Given the description of an element on the screen output the (x, y) to click on. 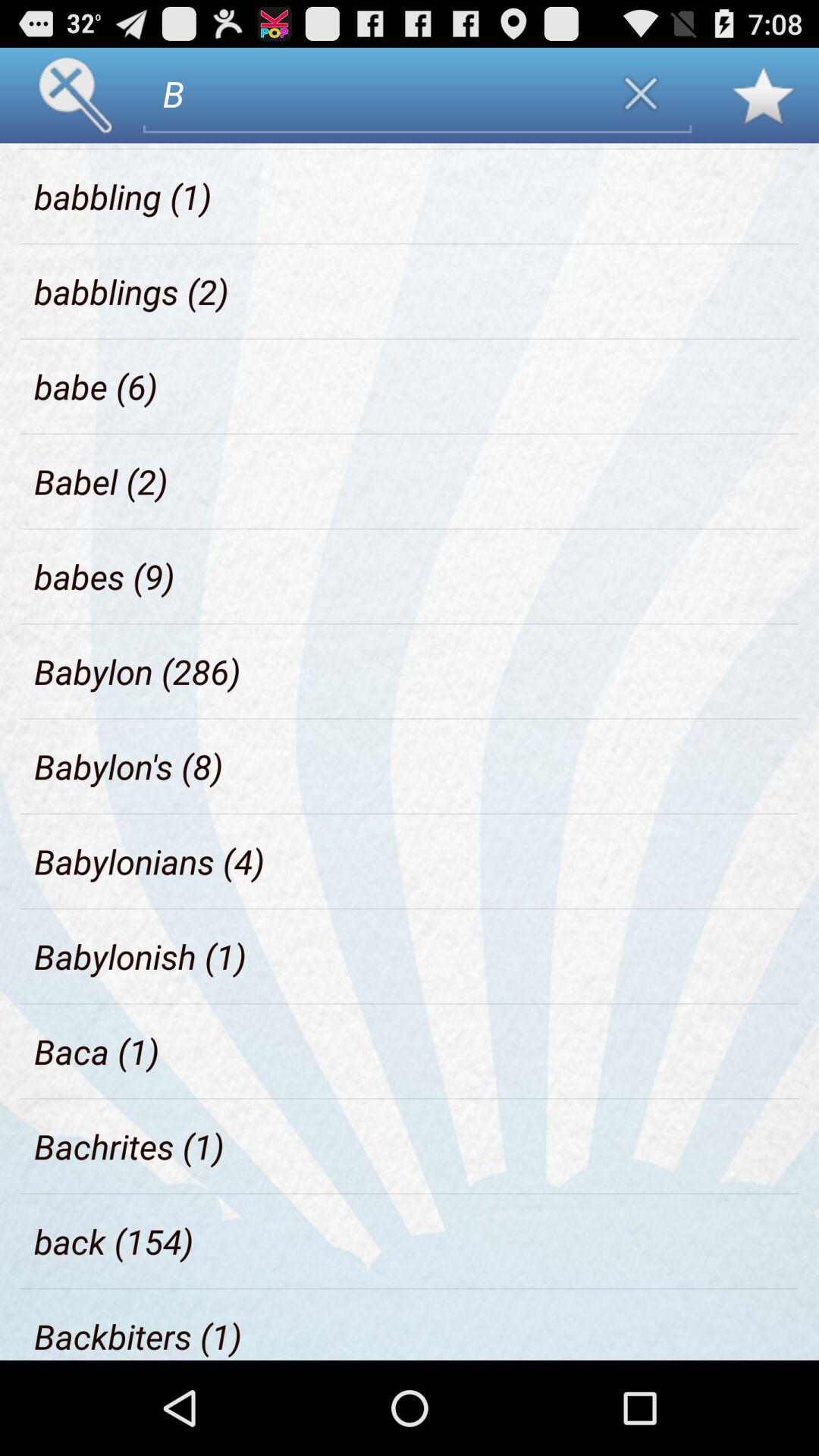
open icon below back (154) app (138, 1336)
